Given the description of an element on the screen output the (x, y) to click on. 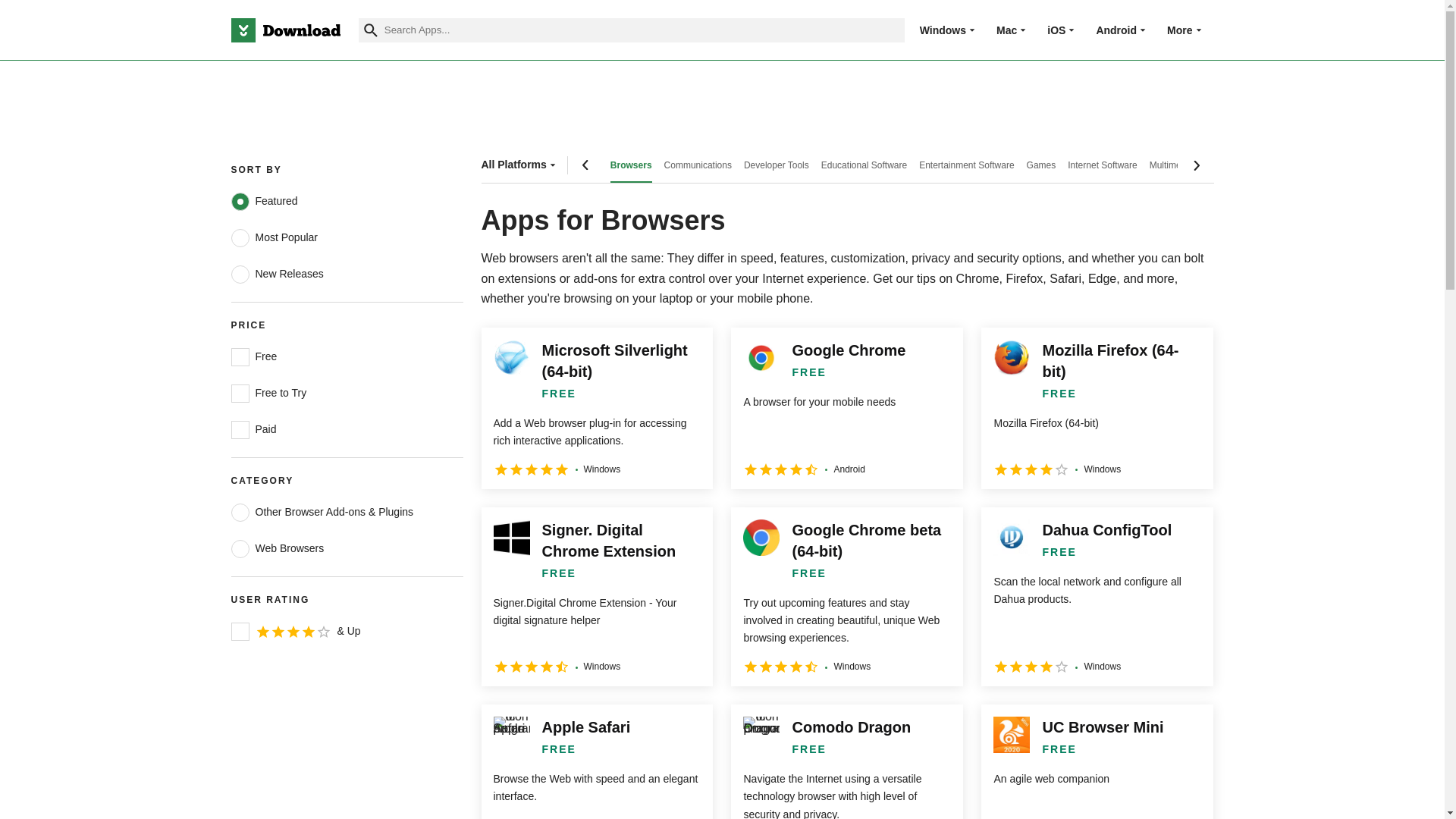
paid (239, 429)
mostPopular (239, 238)
Signer. Digital Chrome Extension (596, 596)
browsers-plugins (239, 512)
4up (239, 631)
free (239, 357)
Comodo Dragon (846, 761)
UC Browser Mini (1096, 761)
Mac (1005, 29)
Windows (943, 29)
